Given the description of an element on the screen output the (x, y) to click on. 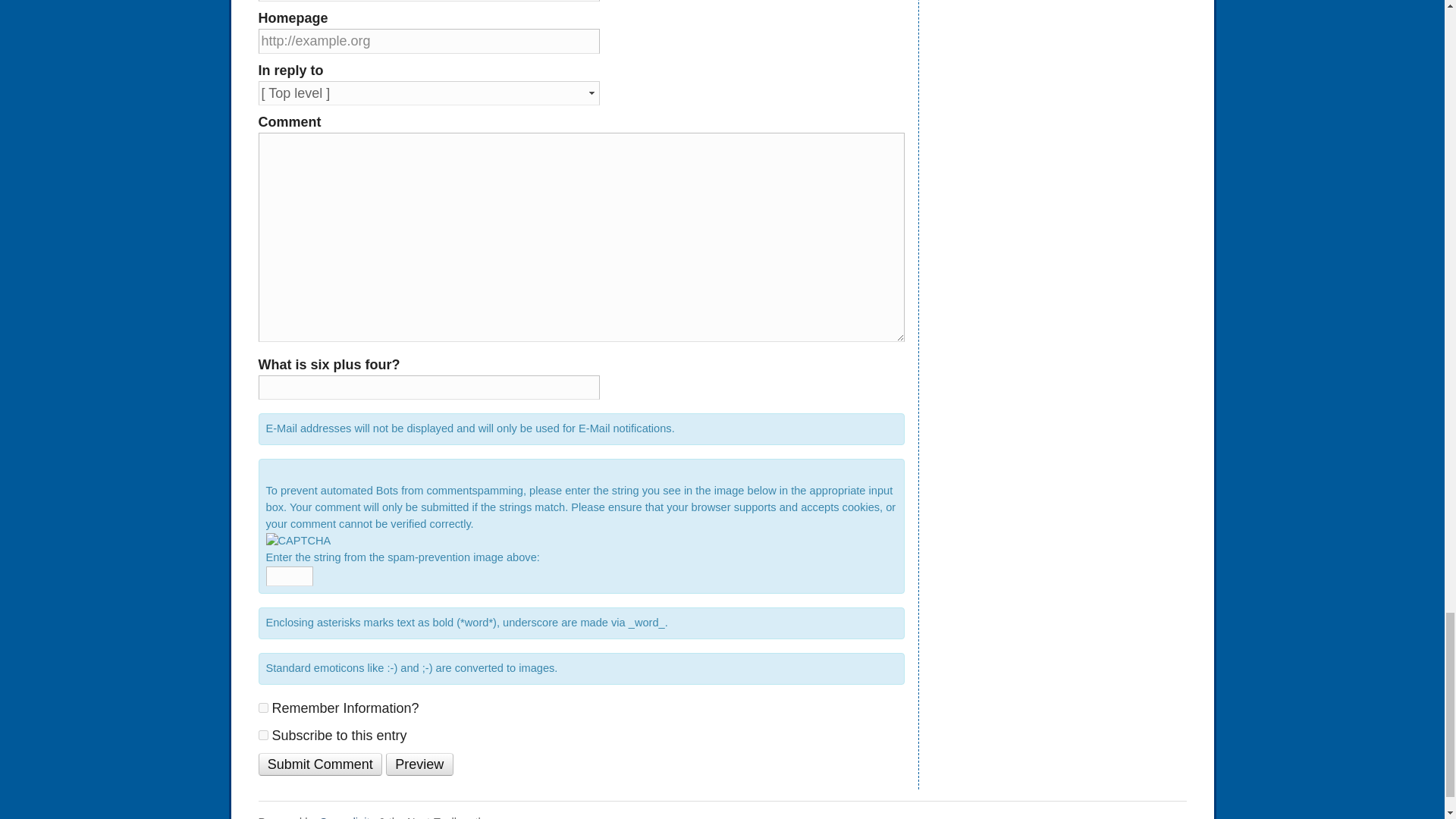
Preview (418, 763)
on (262, 707)
on (262, 735)
Submit Comment (319, 763)
Submit Comment (319, 763)
Preview (418, 763)
Enter the string you see here in the input box! (297, 541)
